Given the description of an element on the screen output the (x, y) to click on. 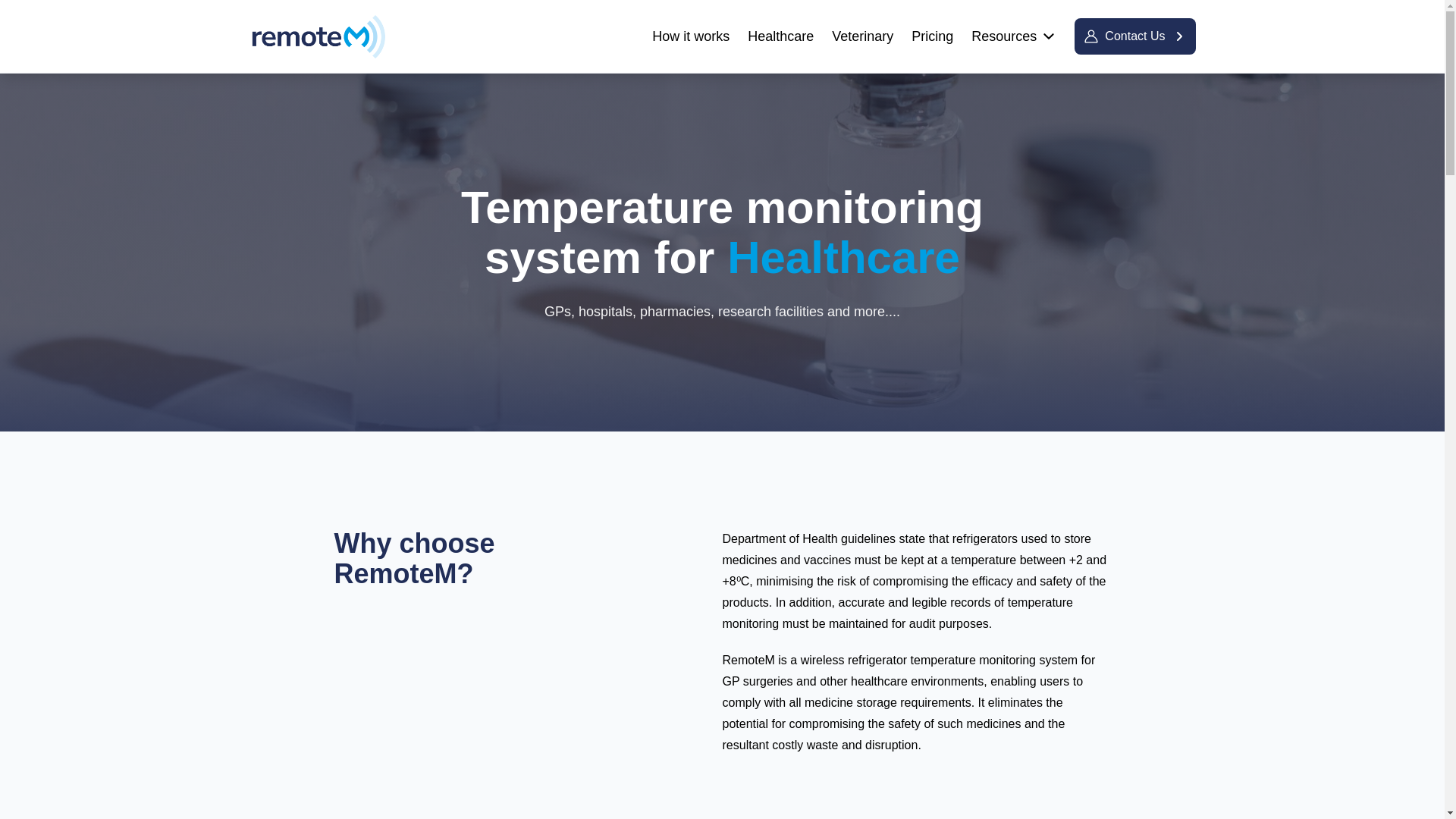
Contact Us (1134, 36)
How it works (690, 35)
Resources (1014, 35)
Pricing (932, 35)
Veterinary (862, 35)
Healthcare (780, 35)
